Given the description of an element on the screen output the (x, y) to click on. 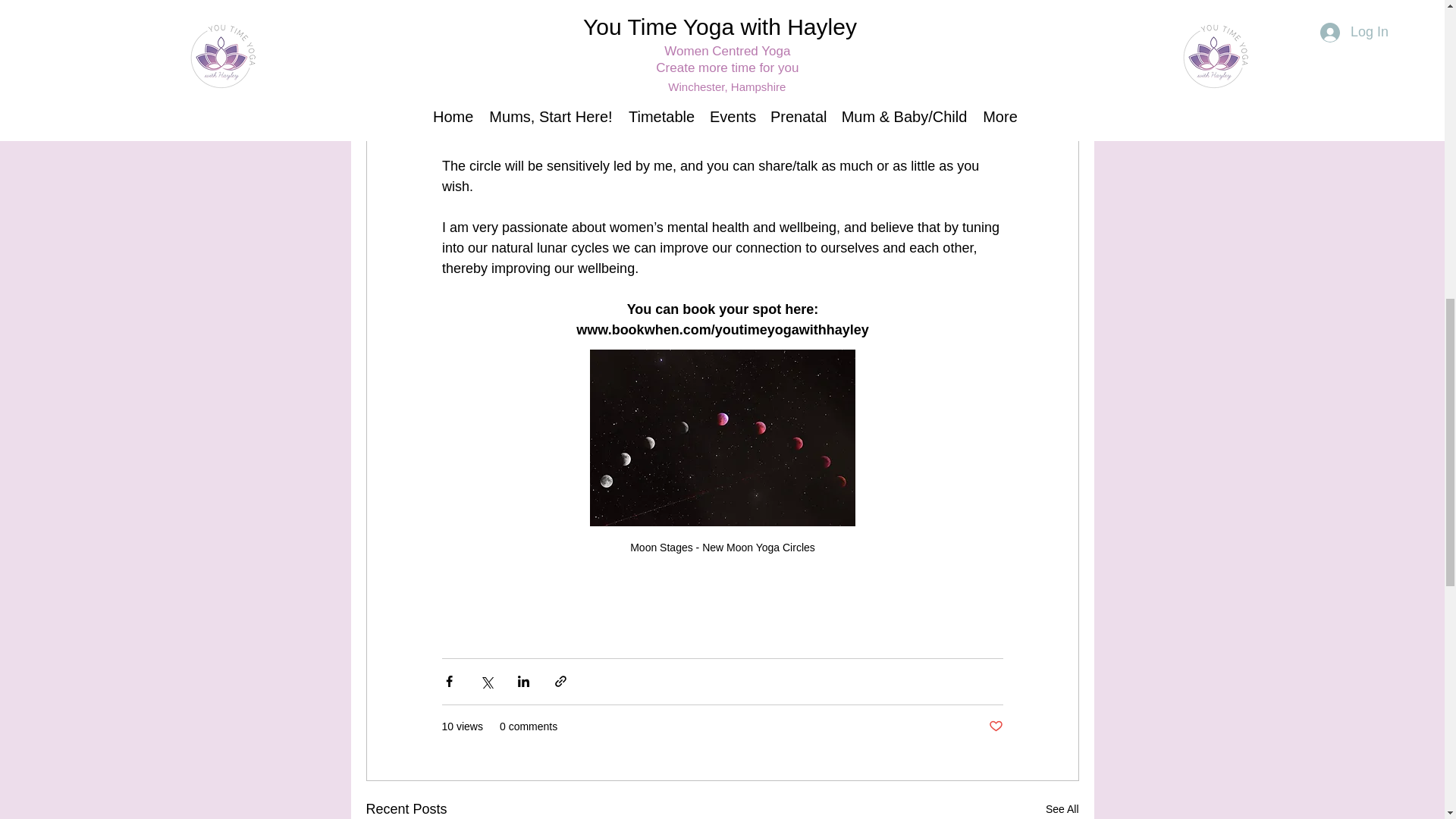
See All (1061, 808)
Post not marked as liked (995, 726)
